Given the description of an element on the screen output the (x, y) to click on. 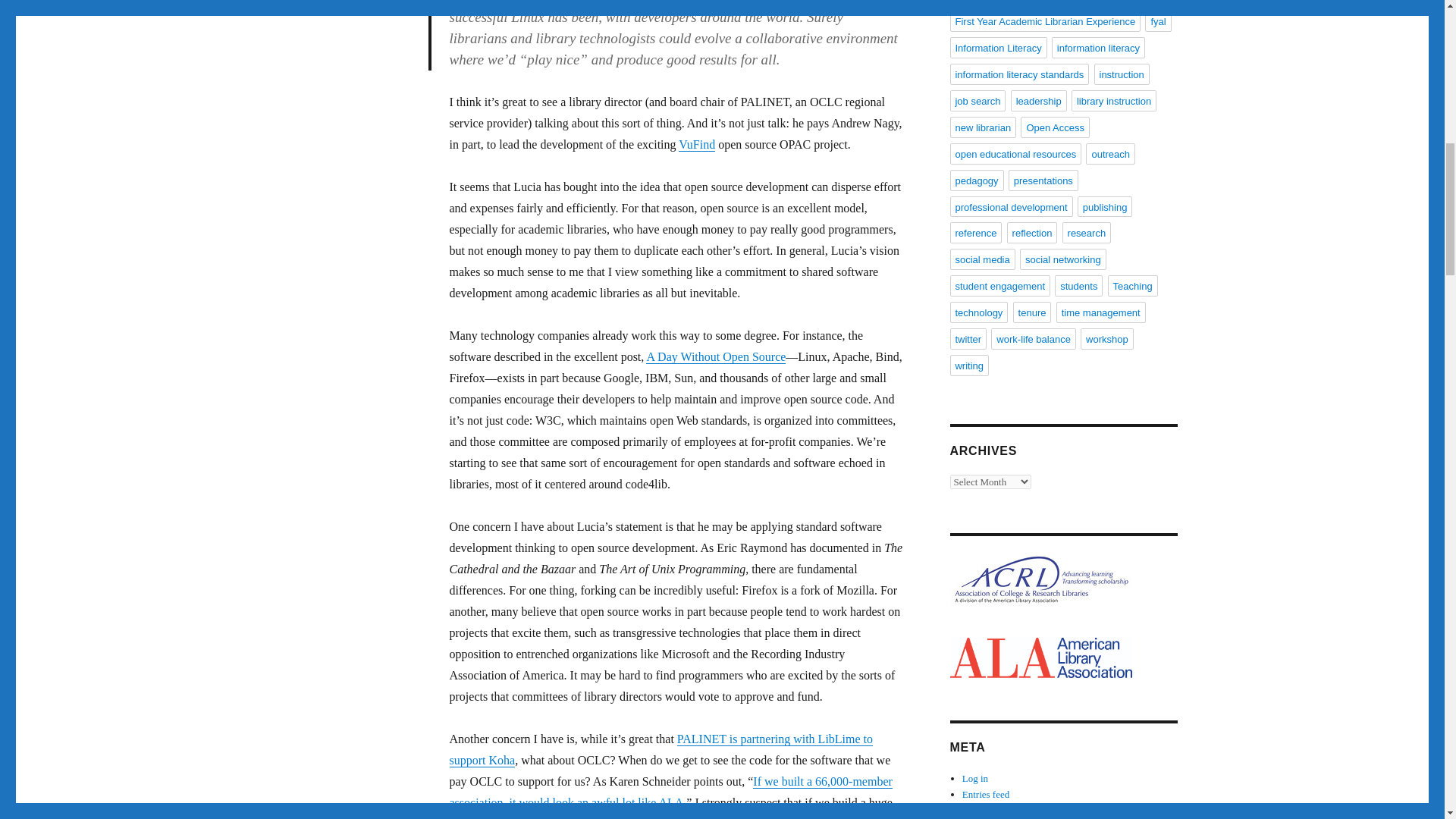
PALINET is partnering with LibLime to support Koha (660, 749)
VuFind (696, 144)
A Day Without Open Source (716, 356)
